Given the description of an element on the screen output the (x, y) to click on. 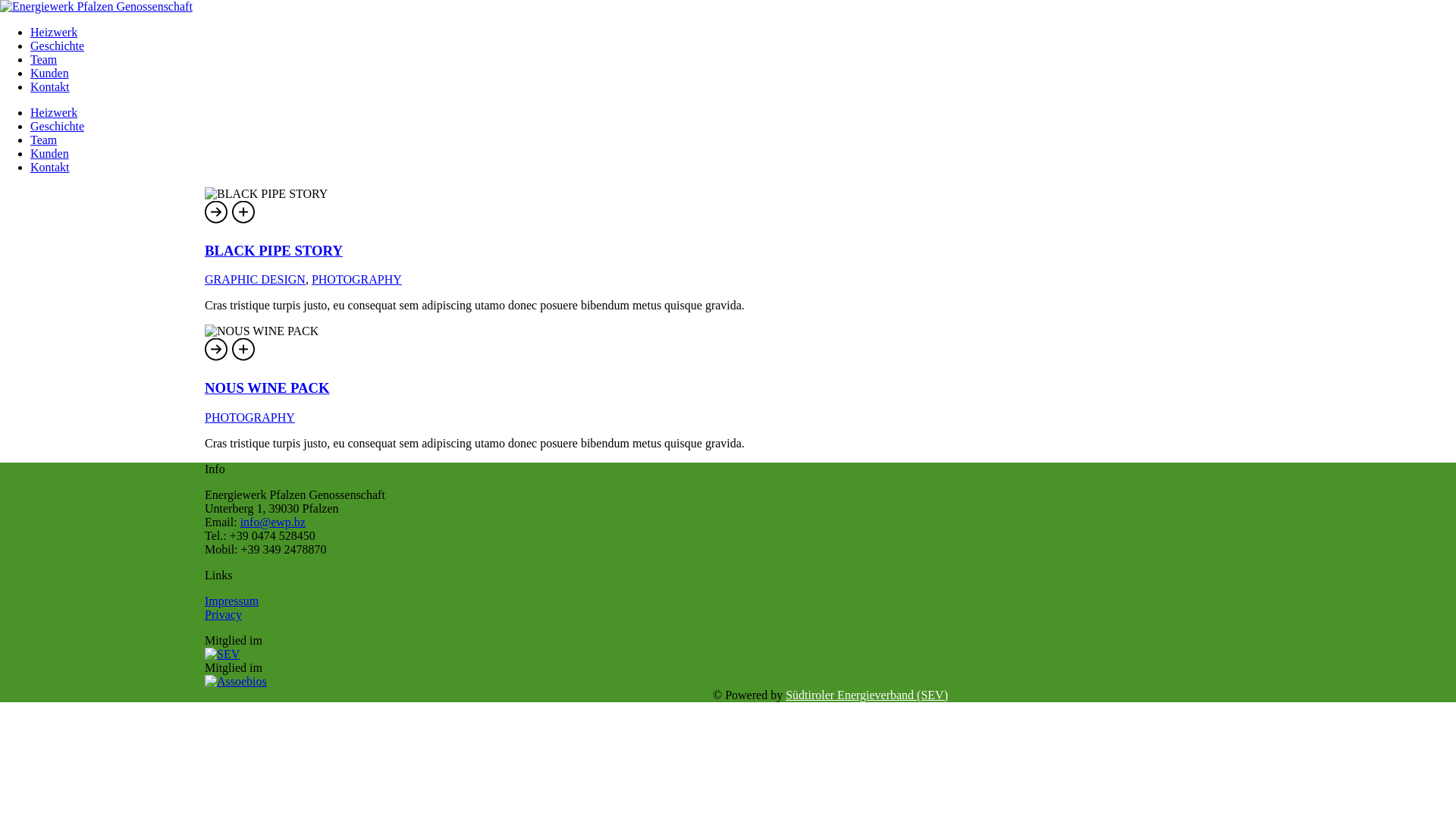
PHOTOGRAPHY Element type: text (356, 279)
Heizwerk Element type: text (53, 31)
Fernheizwerk Pfalzen Energiewerk Element type: hover (96, 6)
Kunden Element type: text (49, 72)
Kontakt Element type: text (49, 86)
BLACK PIPE STORY Element type: text (273, 250)
BLACK PIPE STORY Element type: hover (244, 220)
PHOTOGRAPHY Element type: text (249, 417)
Kontakt Element type: text (49, 166)
Heizwerk Element type: text (53, 112)
Kunden Element type: text (49, 153)
Geschichte Element type: text (57, 45)
Team Element type: text (43, 139)
Geschichte Element type: text (57, 125)
NOUS WINE PACK Element type: text (266, 387)
Impressum Element type: text (231, 600)
GRAPHIC DESIGN Element type: text (254, 279)
Energiewerk Pfalzen Genossenschaft Element type: hover (96, 6)
NOUS WINE PACK Element type: hover (244, 357)
Privacy Element type: text (222, 614)
NOUS WINE PACK Element type: hover (261, 331)
BLACK PIPE STORY Element type: hover (265, 193)
Team Element type: text (43, 59)
info@ewp.bz Element type: text (272, 521)
